Given the description of an element on the screen output the (x, y) to click on. 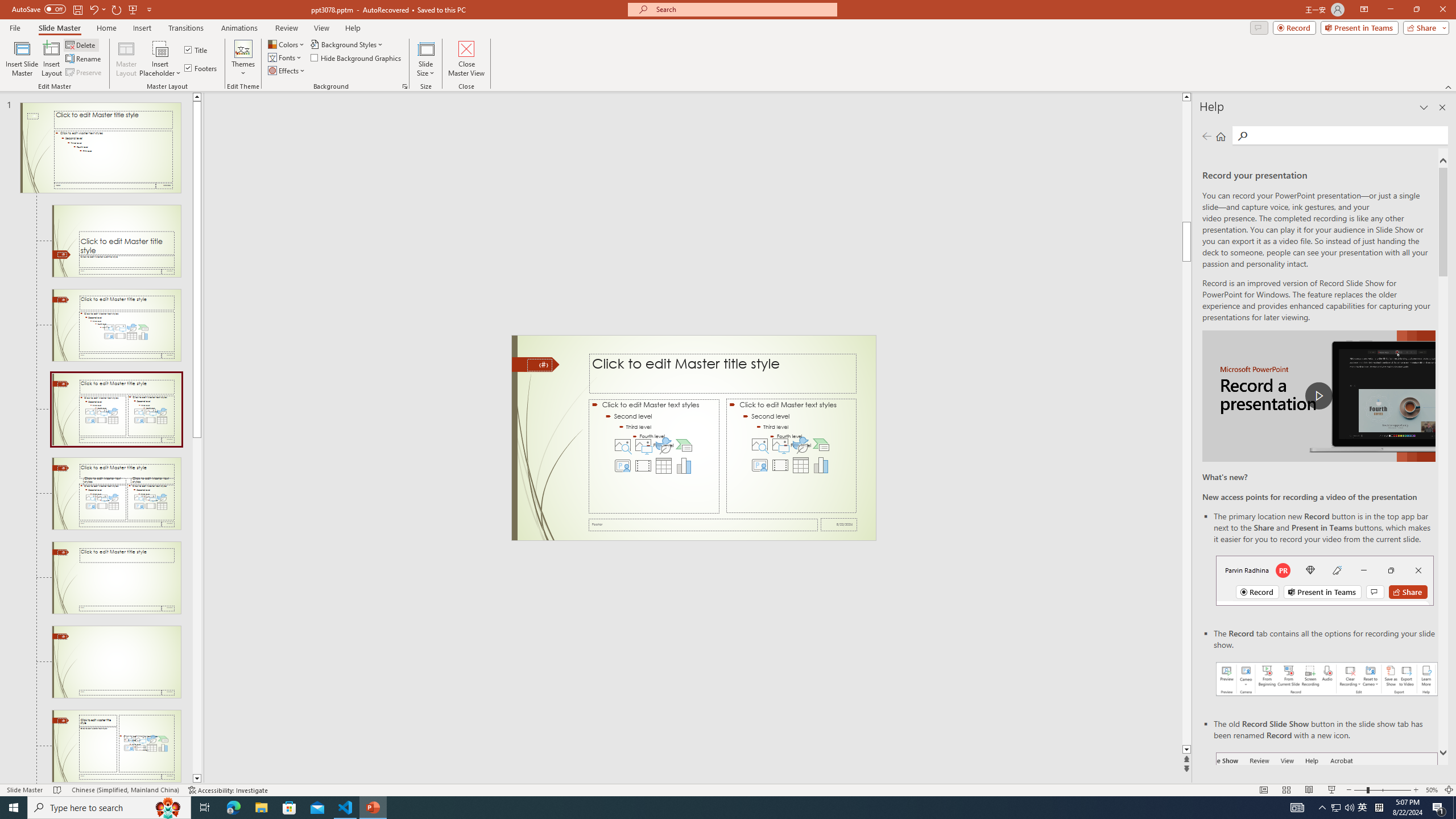
Search (1347, 135)
Effects (287, 69)
Preserve (84, 72)
Format Background... (404, 85)
Stock Images (759, 444)
Background Styles (347, 44)
Search (1241, 136)
